Given the description of an element on the screen output the (x, y) to click on. 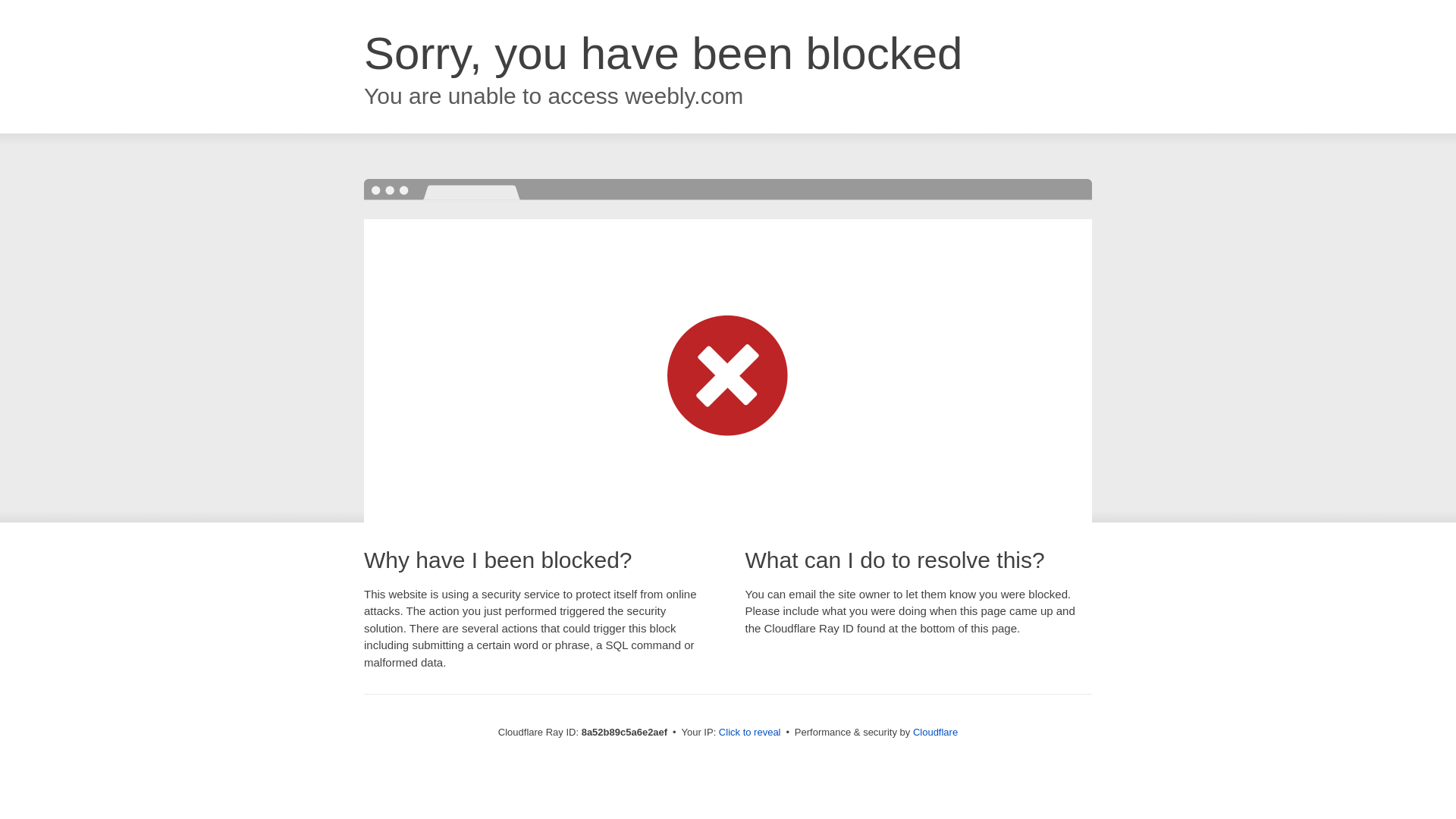
Cloudflare (935, 731)
Click to reveal (749, 732)
